Given the description of an element on the screen output the (x, y) to click on. 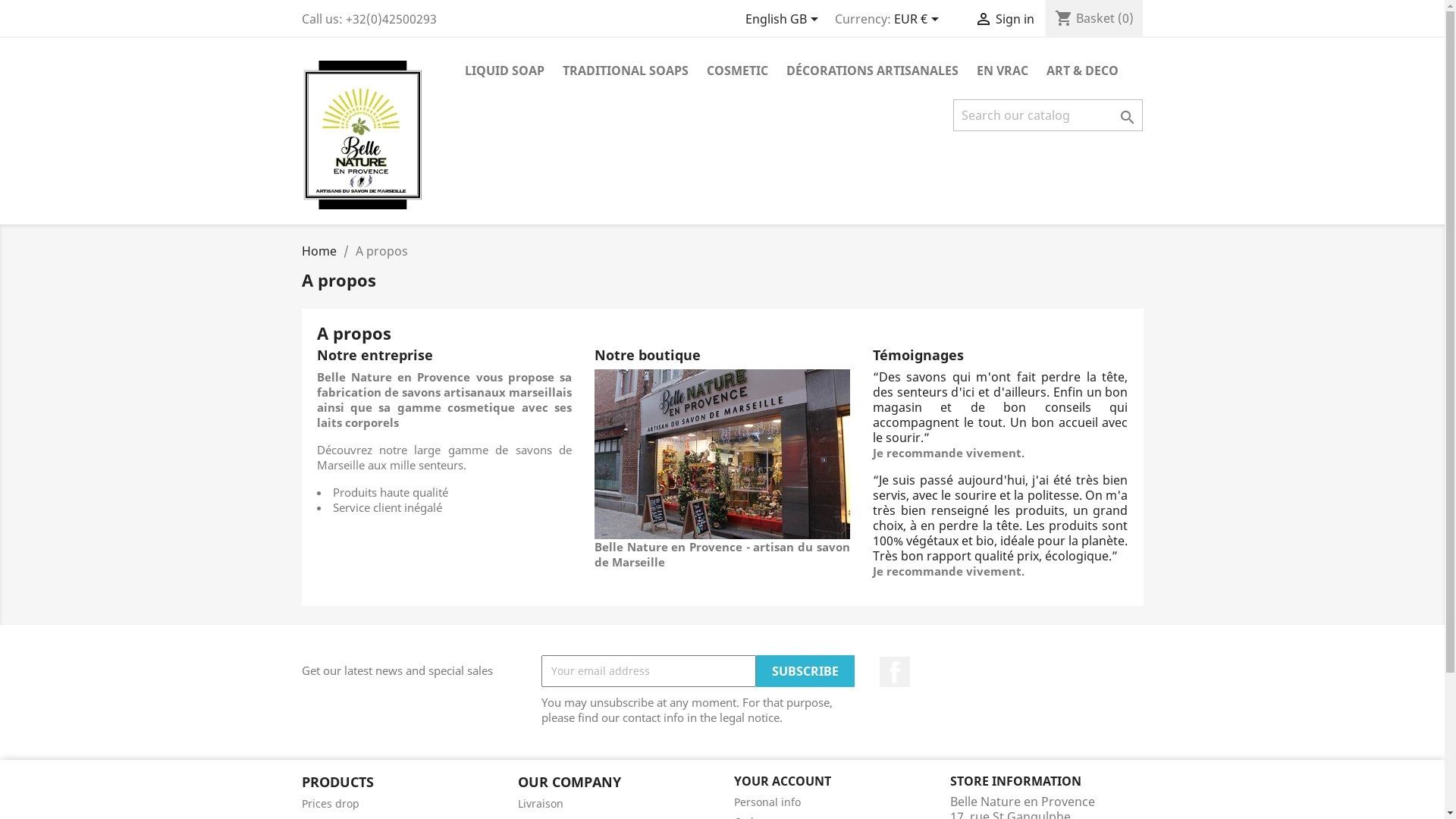
Subscribe Element type: text (805, 671)
Personal info Element type: text (767, 801)
Livraison Element type: text (539, 803)
COSMETIC Element type: text (737, 71)
Prices drop Element type: text (330, 803)
LIQUID SOAP Element type: text (503, 71)
EN VRAC Element type: text (1002, 71)
YOUR ACCOUNT Element type: text (782, 780)
ART & DECO Element type: text (1082, 71)
Facebook Element type: text (894, 671)
TRADITIONAL SOAPS Element type: text (625, 71)
Home Element type: text (318, 250)
